Given the description of an element on the screen output the (x, y) to click on. 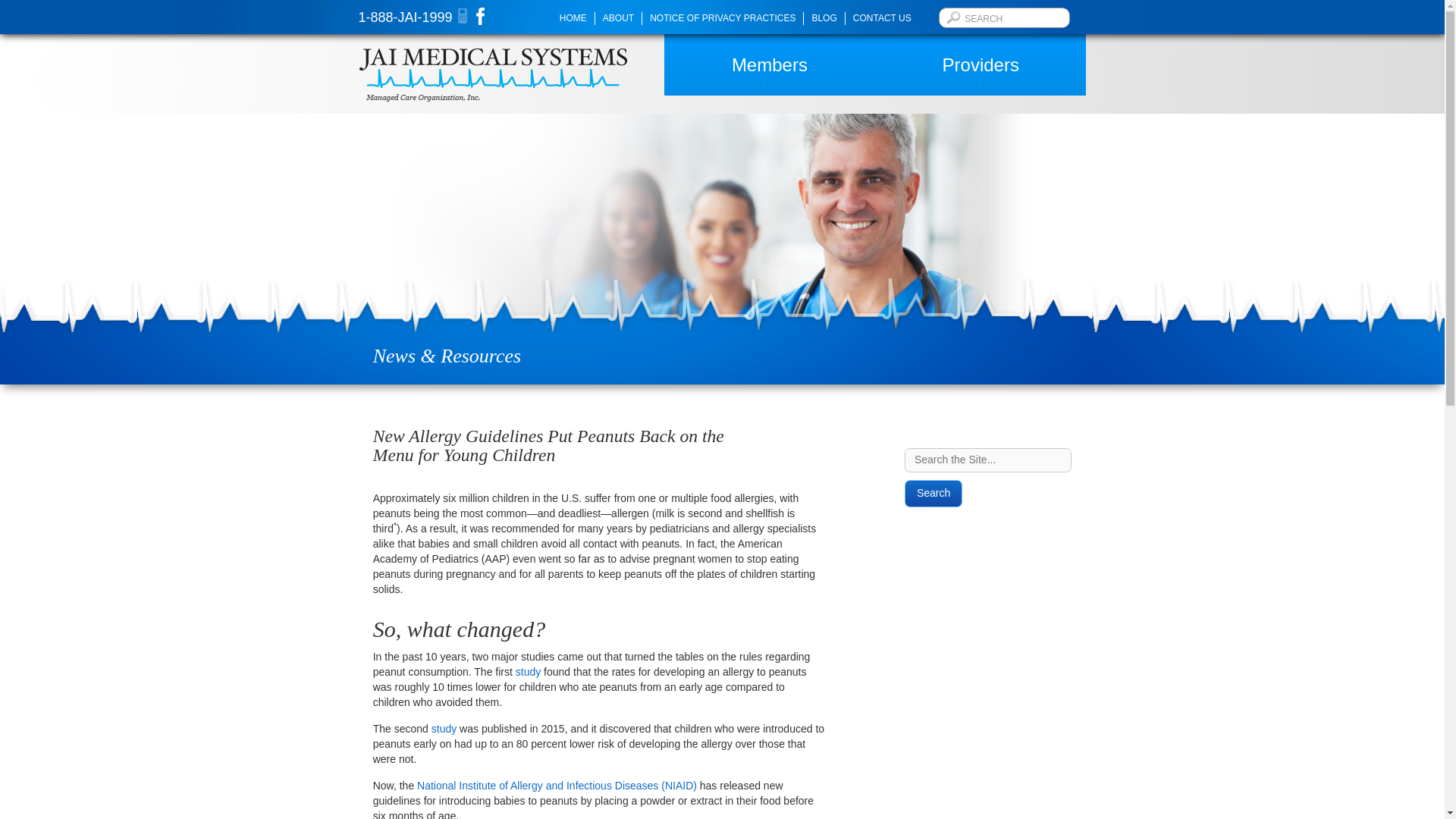
HOME (573, 18)
Search (933, 492)
ABOUT (618, 18)
CONTACT US (881, 18)
BLOG (823, 18)
NOTICE OF PRIVACY PRACTICES (722, 18)
Members (769, 64)
